Given the description of an element on the screen output the (x, y) to click on. 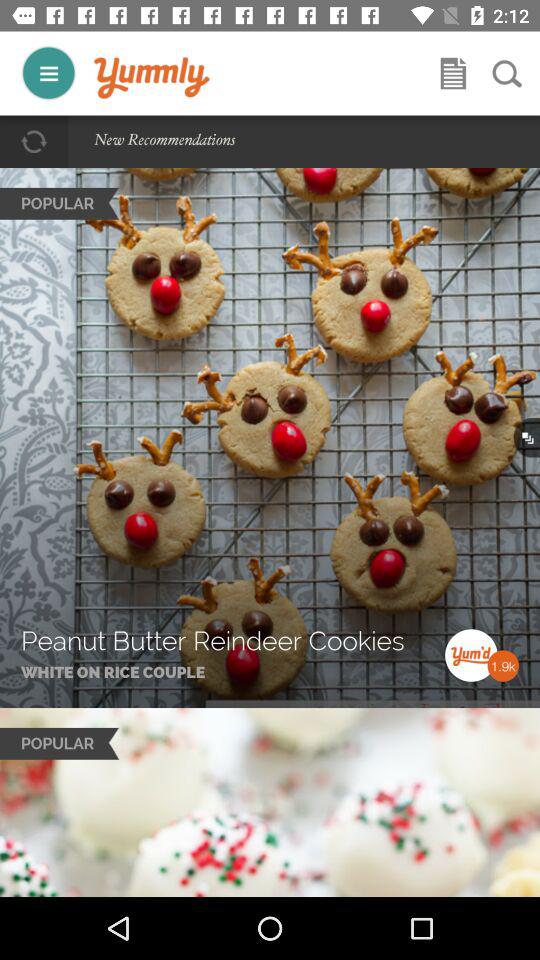
logo of the application (152, 77)
